Given the description of an element on the screen output the (x, y) to click on. 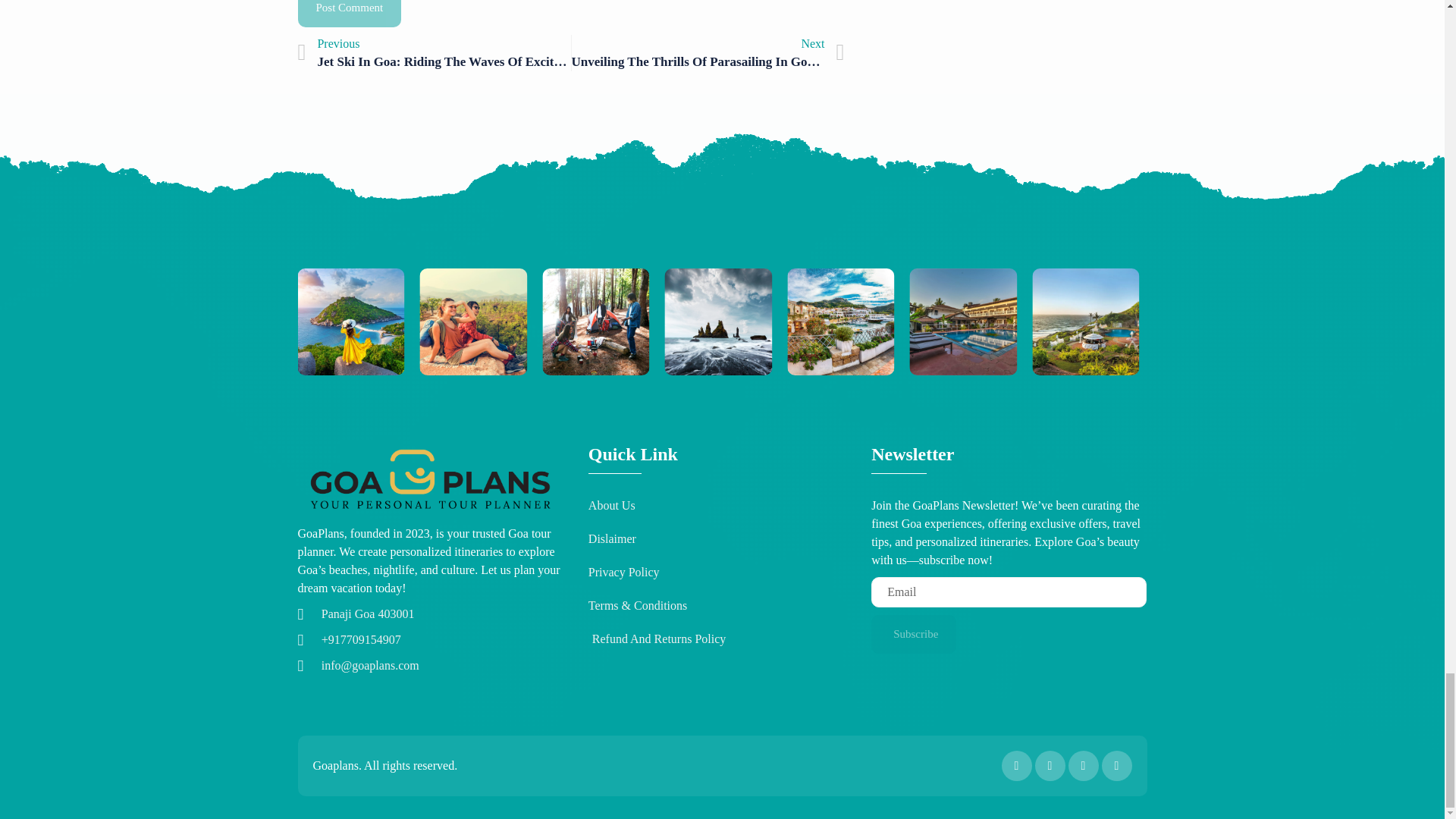
Post Comment (433, 53)
